Given the description of an element on the screen output the (x, y) to click on. 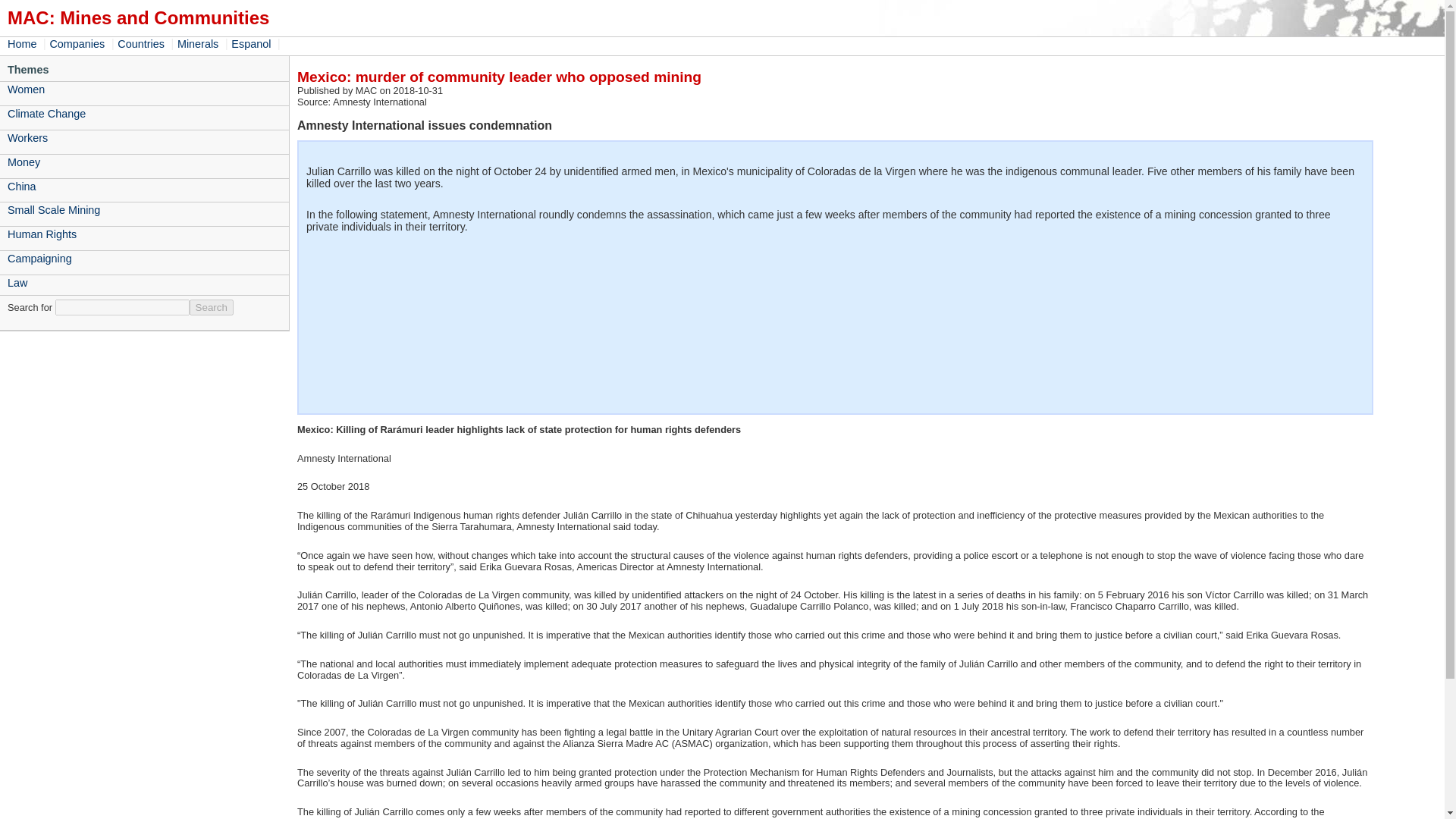
Campaigning (144, 258)
Law (144, 282)
Climate Change (144, 113)
Countries (142, 43)
Minerals (199, 43)
Companies (78, 43)
Search (210, 307)
China (144, 186)
Workers (144, 137)
Search (210, 307)
